Given the description of an element on the screen output the (x, y) to click on. 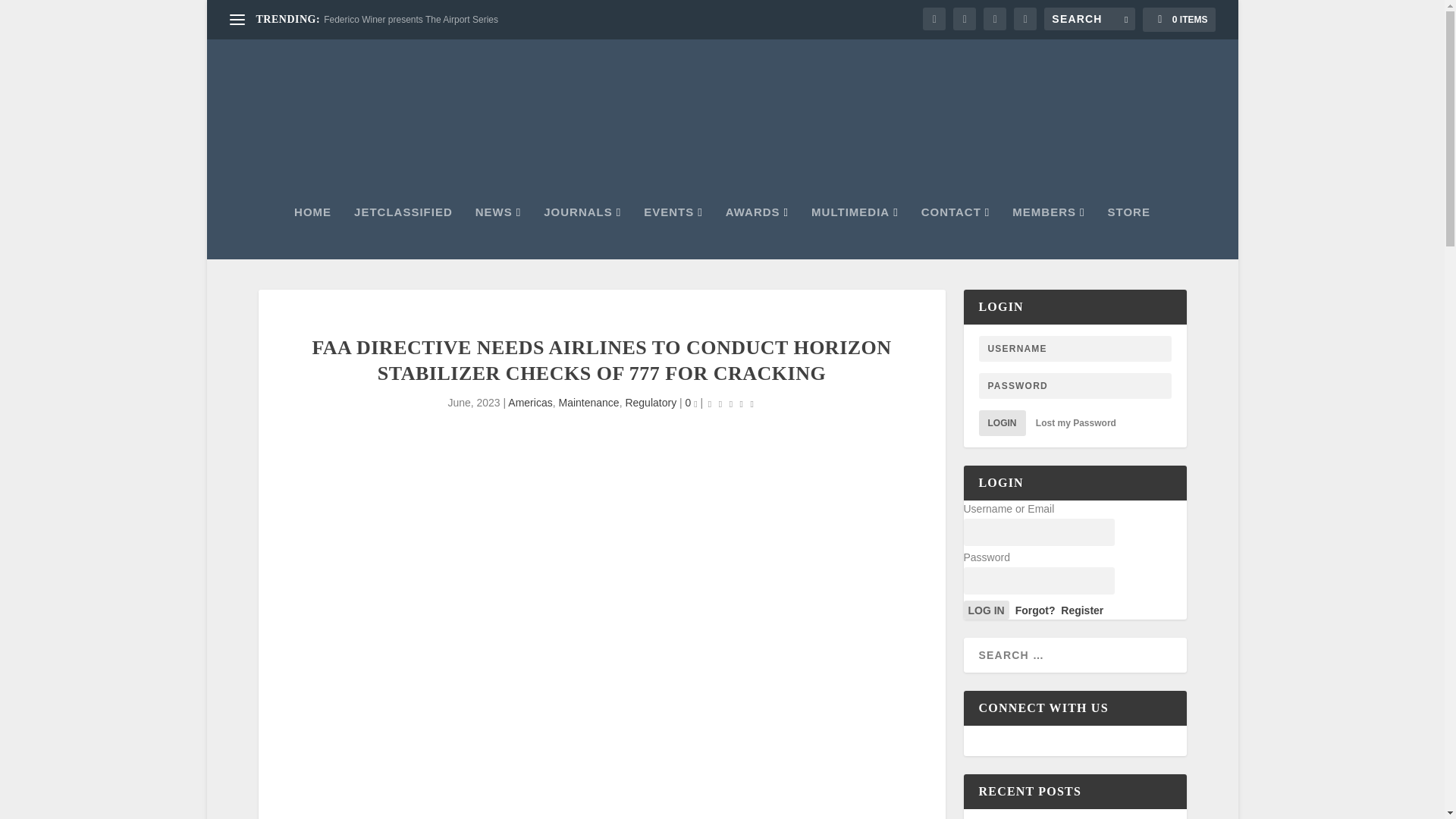
JETCLASSIFIED (402, 232)
NEWS (498, 232)
Rating: 0.00 (730, 403)
log in (985, 609)
Federico Winer presents The Airport Series (410, 19)
JOURNALS (582, 232)
HOME (312, 232)
comment count (695, 404)
